Given the description of an element on the screen output the (x, y) to click on. 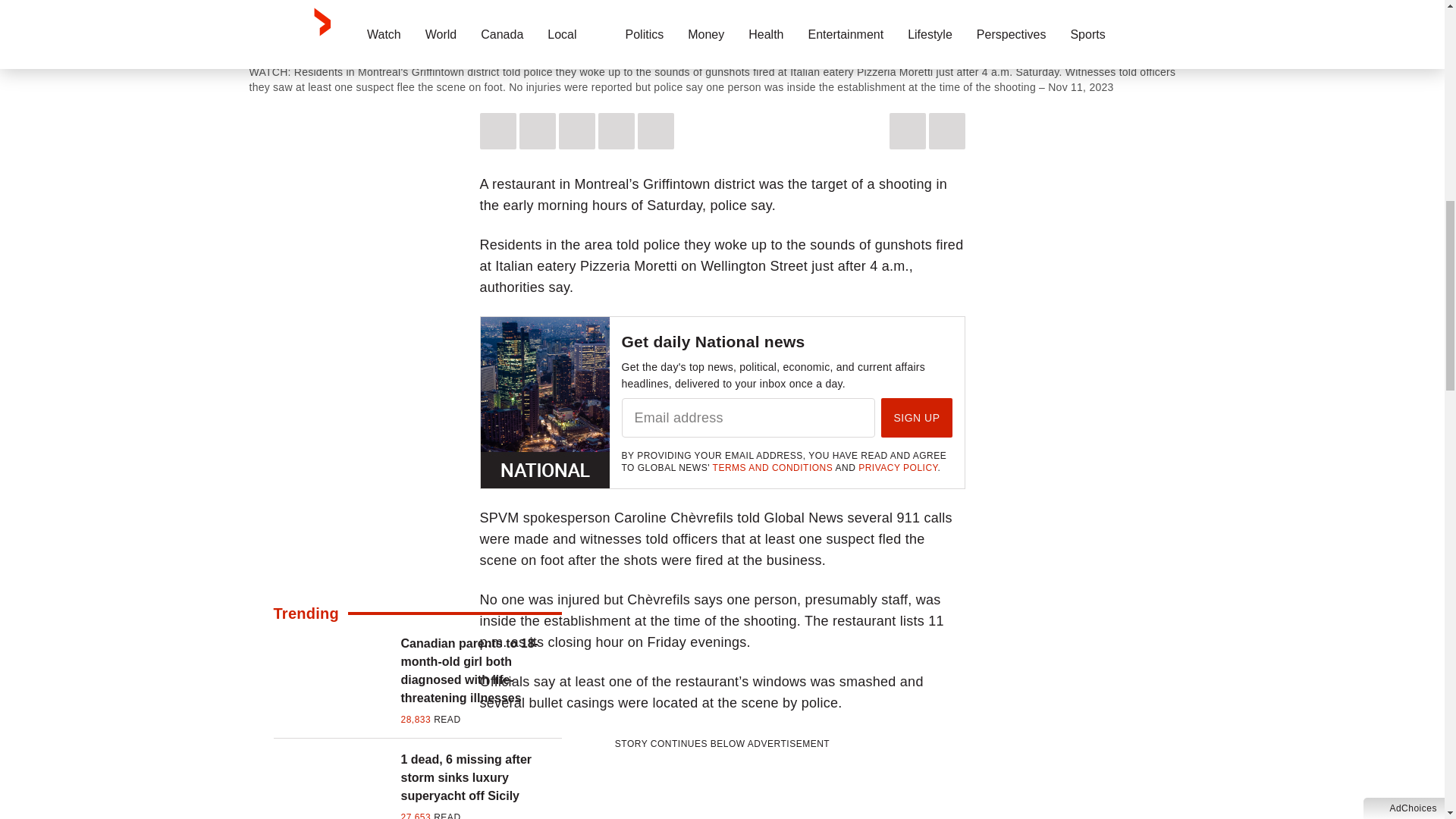
Sticky Video (721, 26)
